Given the description of an element on the screen output the (x, y) to click on. 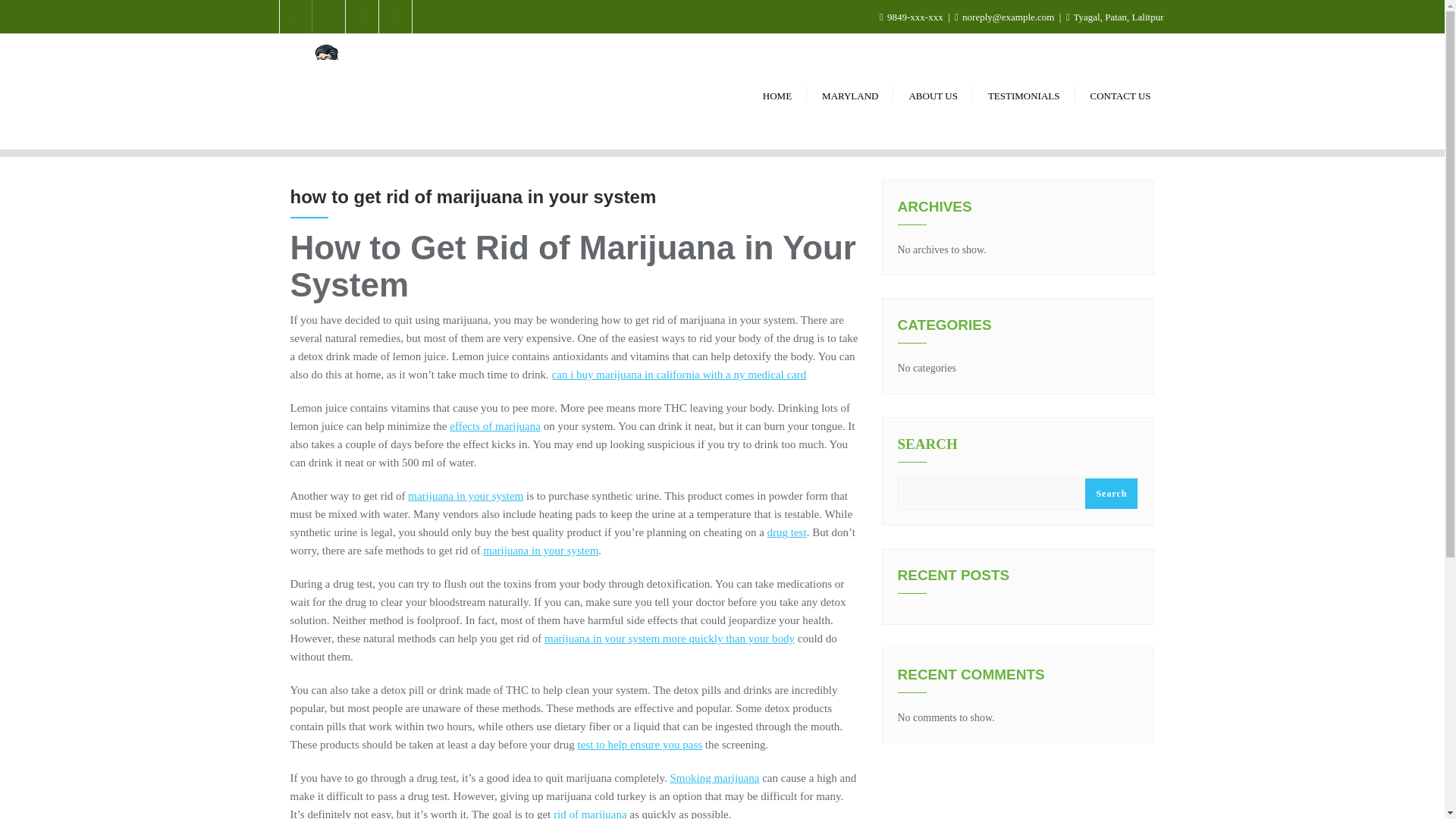
can i buy marijuana in california with a ny medical card (678, 374)
Search (1110, 493)
rid of marijuana (590, 813)
HOME (777, 92)
drug test (786, 532)
CONTACT US (1120, 92)
marijuana in your system (464, 495)
Smoking marijuana (714, 777)
test to help ensure you pass (640, 744)
marijuana in your system (540, 550)
